Given the description of an element on the screen output the (x, y) to click on. 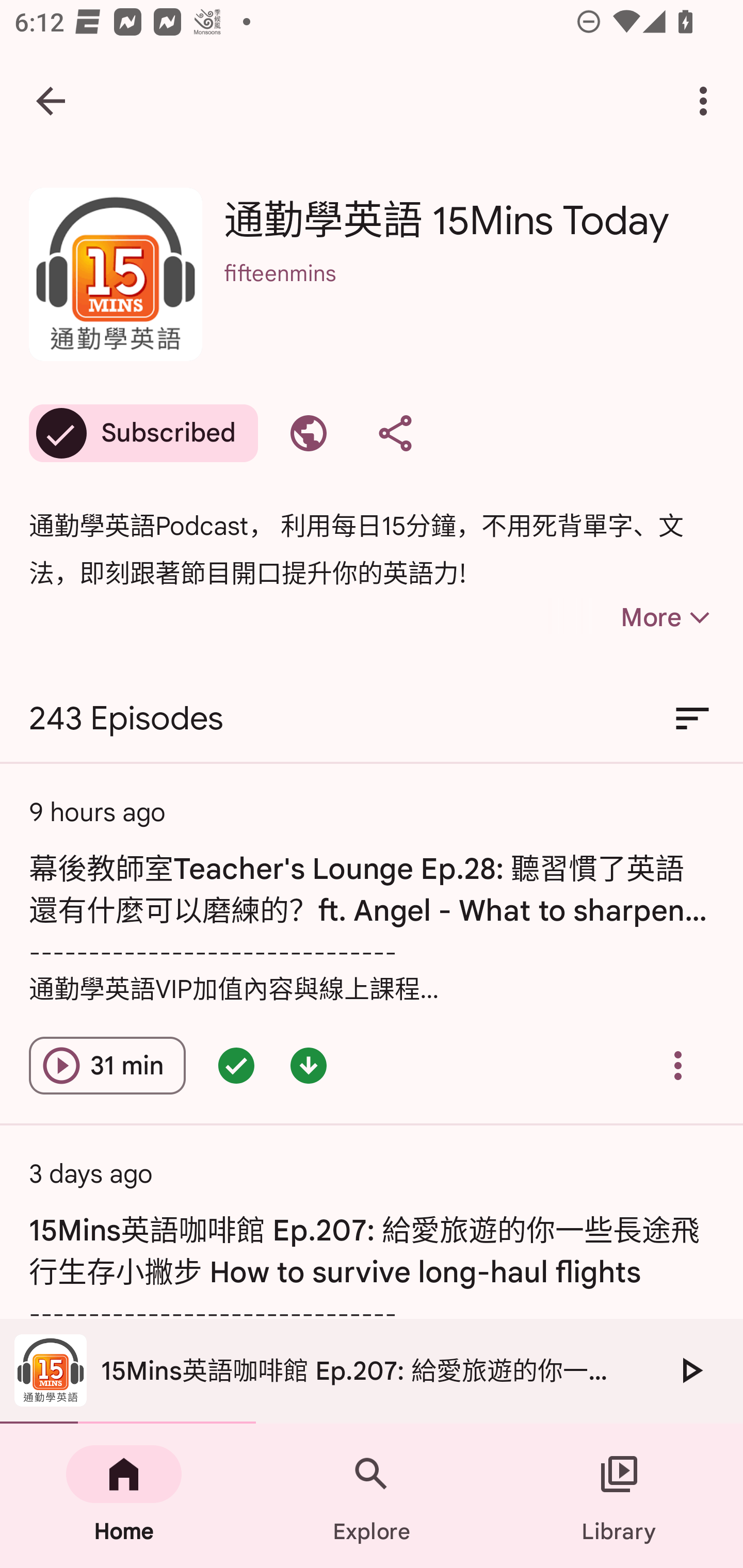
Navigate up (50, 101)
More options (706, 101)
fifteenmins (468, 300)
Subscribed (142, 433)
Visit website (308, 433)
Share (395, 433)
More (631, 616)
Sort (692, 718)
Episode queued - double tap for options (235, 1065)
Episode downloaded - double tap for options (308, 1065)
Overflow menu (677, 1065)
Play (690, 1370)
Explore (371, 1495)
Library (619, 1495)
